Given the description of an element on the screen output the (x, y) to click on. 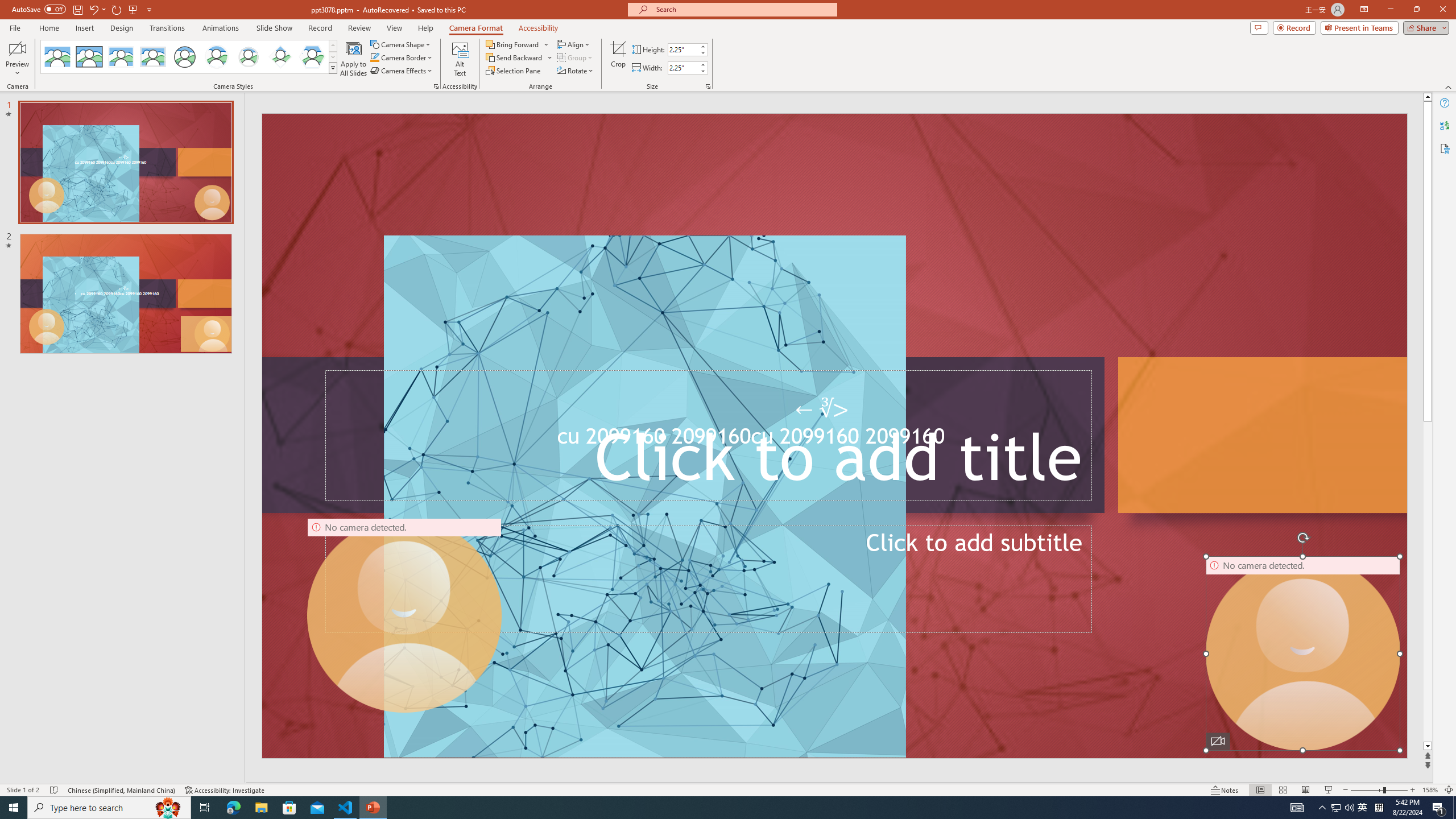
Page 1 content (719, 416)
